Given the description of an element on the screen output the (x, y) to click on. 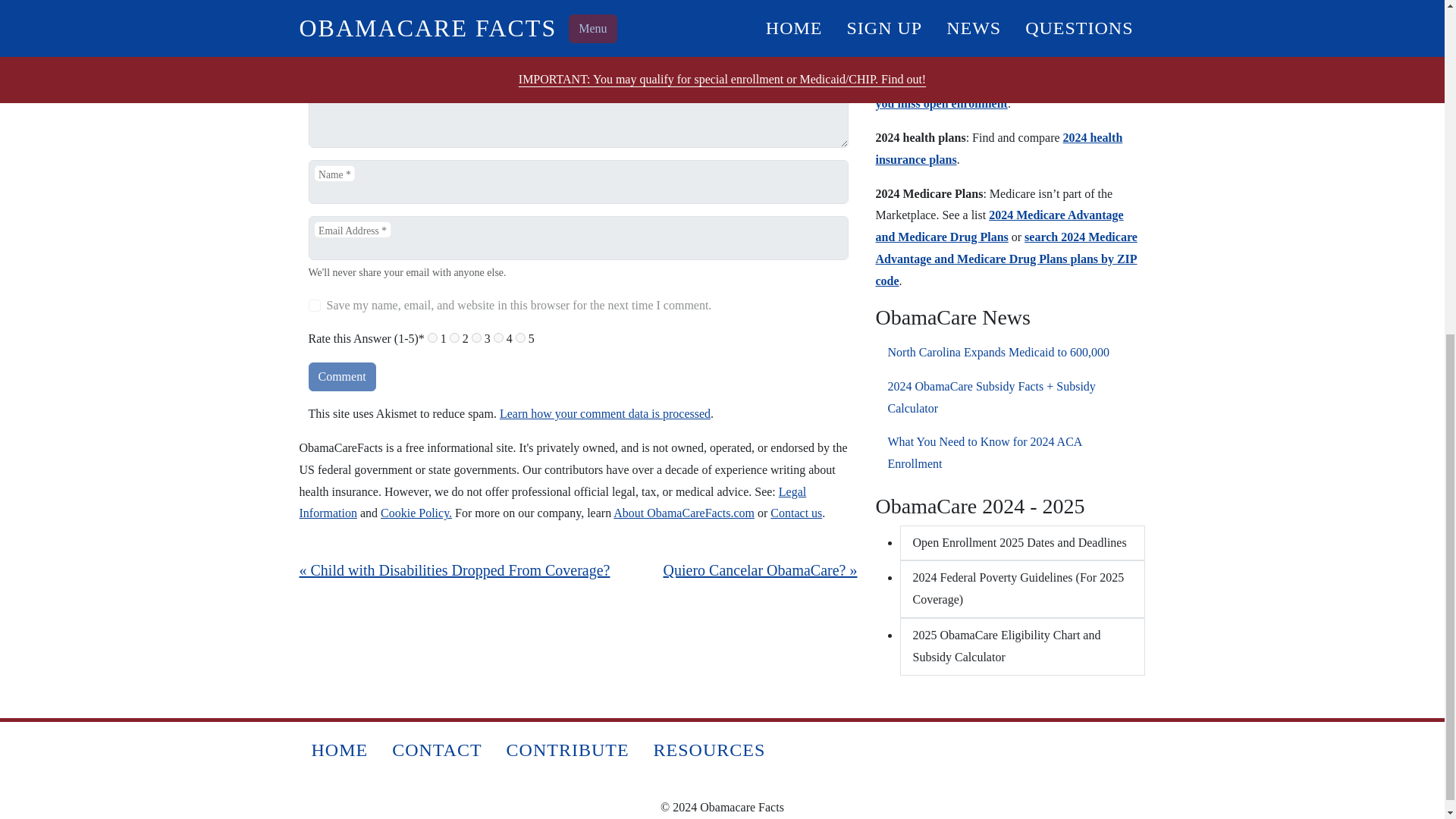
1 (433, 337)
Open enrollment for 2025 health plans (974, 15)
3 (476, 337)
Comment (341, 376)
4 (498, 337)
Change Obamacare plans (1006, 71)
Enroll in an Obamacare plan (968, 81)
2024 health insurance plans (998, 148)
2024 Medicare Advantage and Medicare Drug Plans (998, 225)
yes (313, 305)
